Given the description of an element on the screen output the (x, y) to click on. 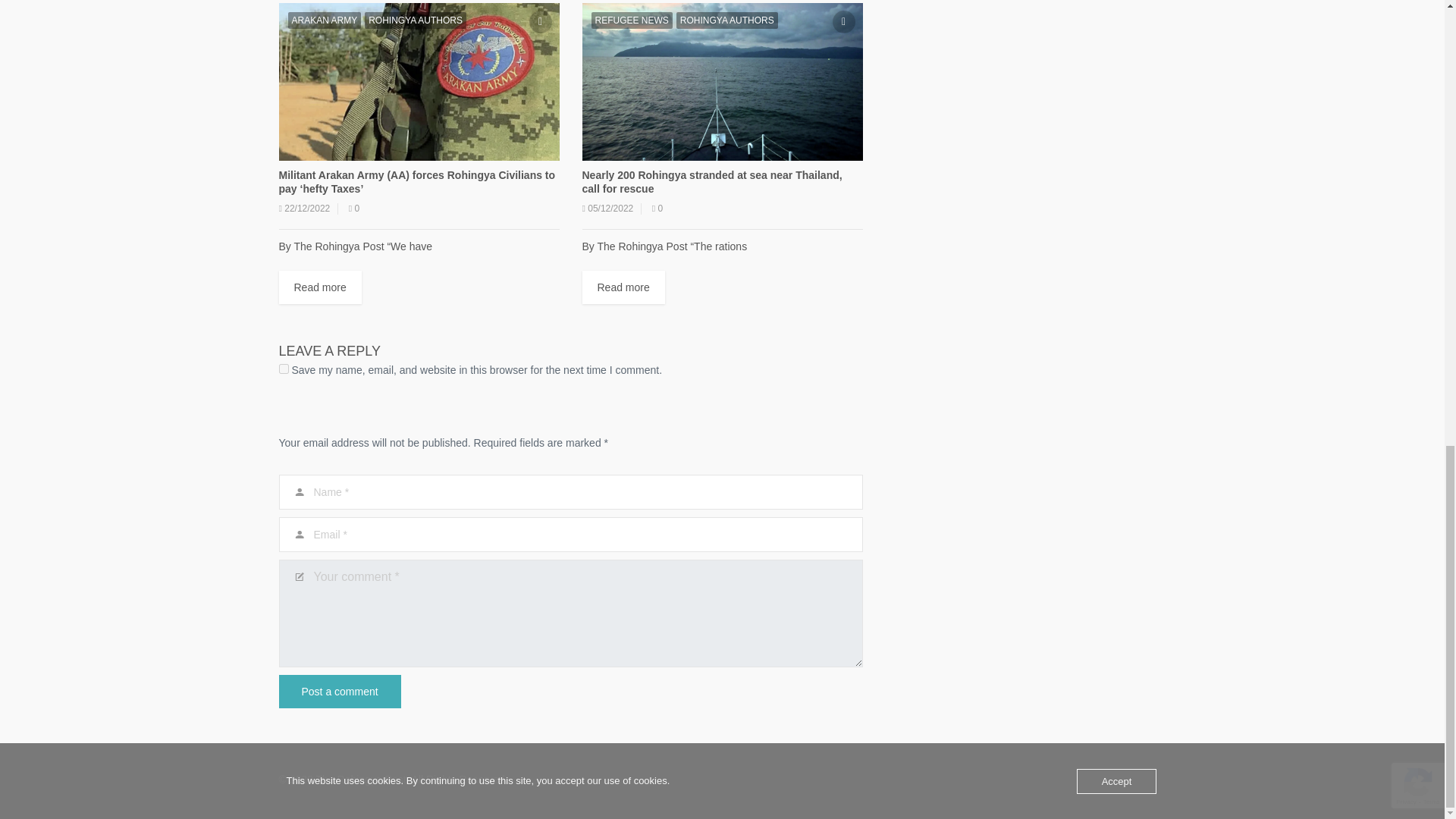
ARAKAN ARMY (324, 20)
ROHINGYA AUTHORS (415, 20)
yes (283, 368)
Post a comment (340, 691)
